Given the description of an element on the screen output the (x, y) to click on. 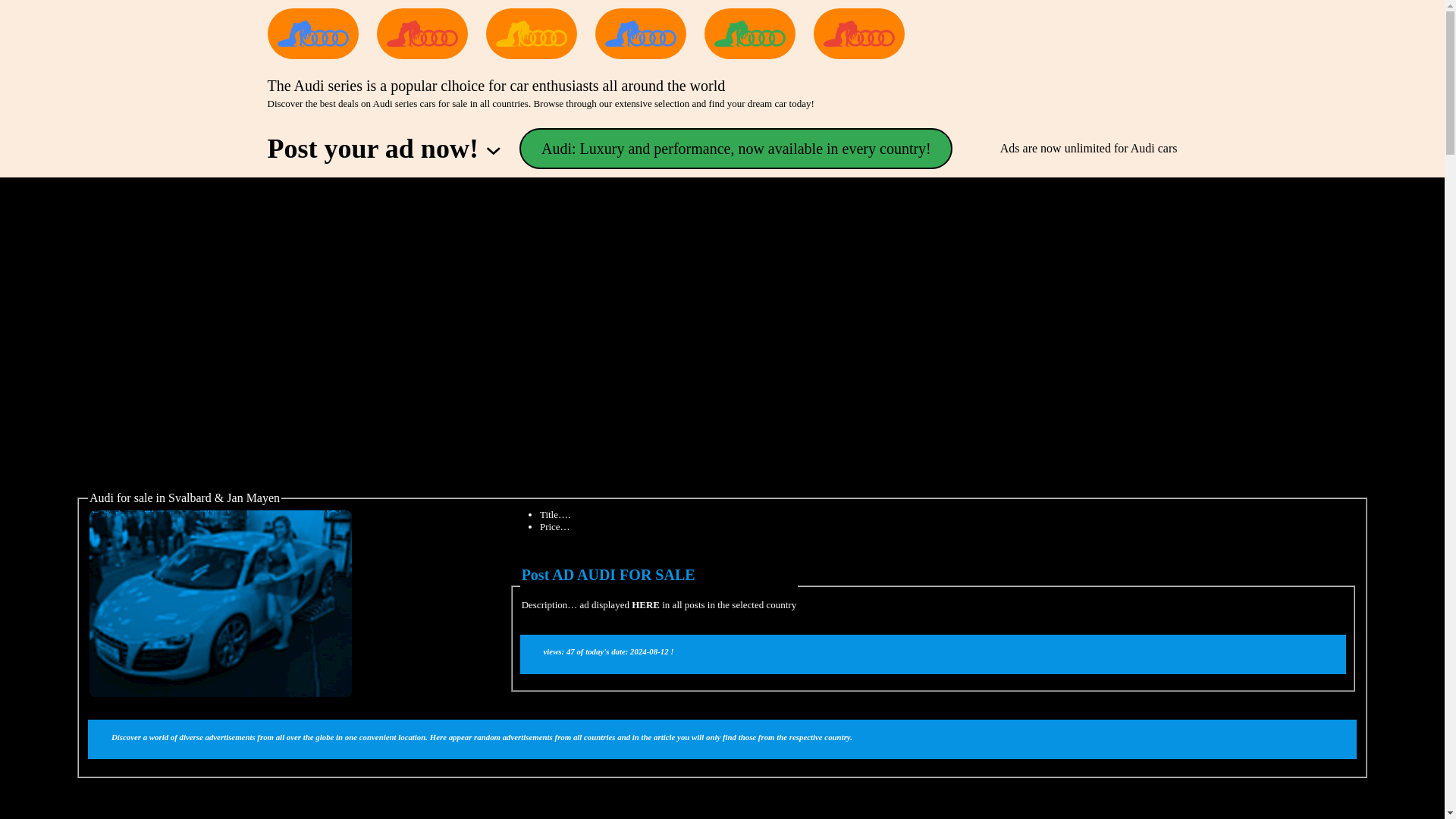
Post AD AUDI FOR SALE (608, 574)
Post your ad now! (371, 148)
